Given the description of an element on the screen output the (x, y) to click on. 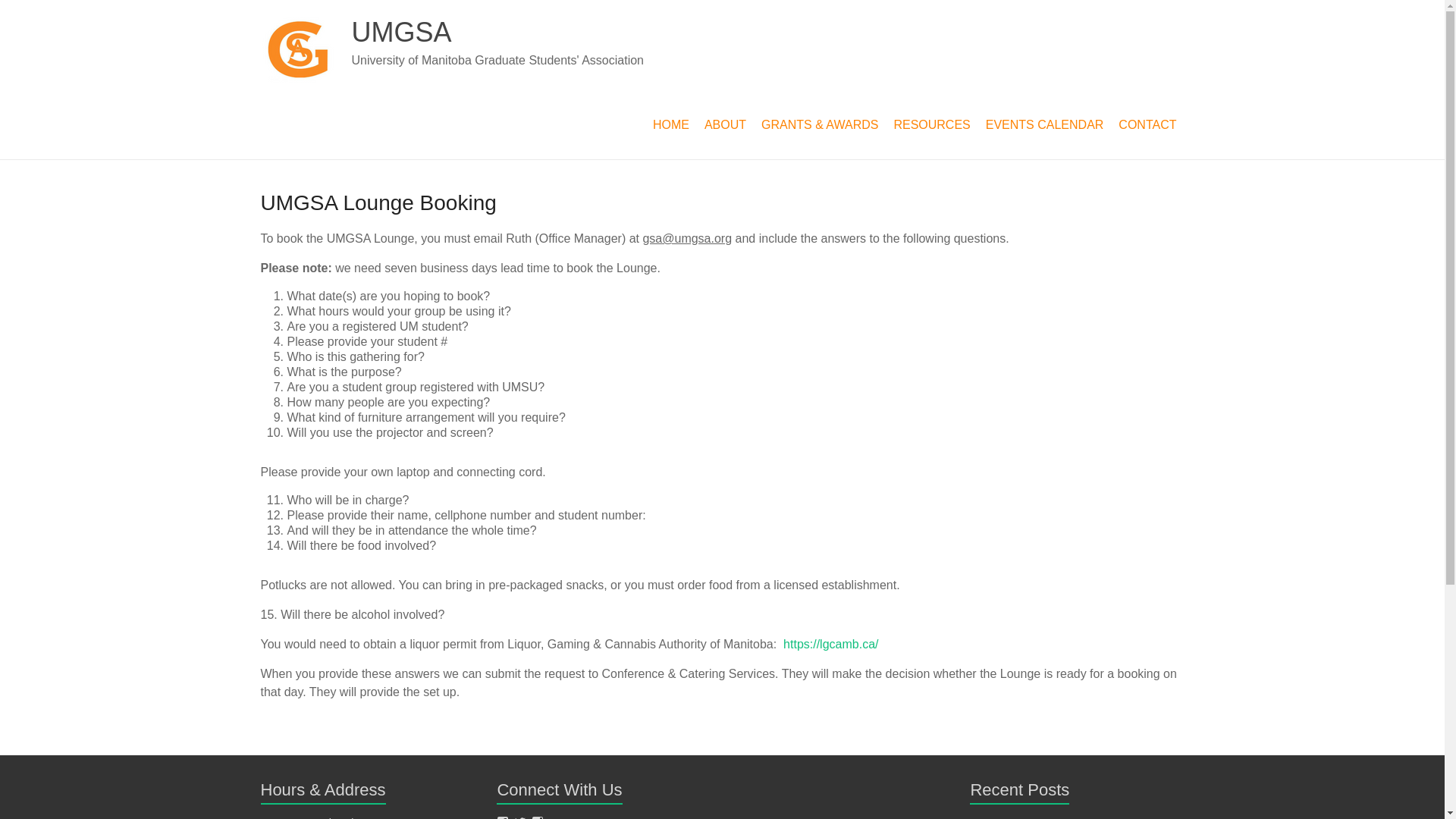
UMGSA (401, 31)
EVENTS CALENDAR (1045, 125)
HOME (671, 125)
UMGSA (401, 31)
ABOUT (725, 125)
RESOURCES (930, 125)
